Given the description of an element on the screen output the (x, y) to click on. 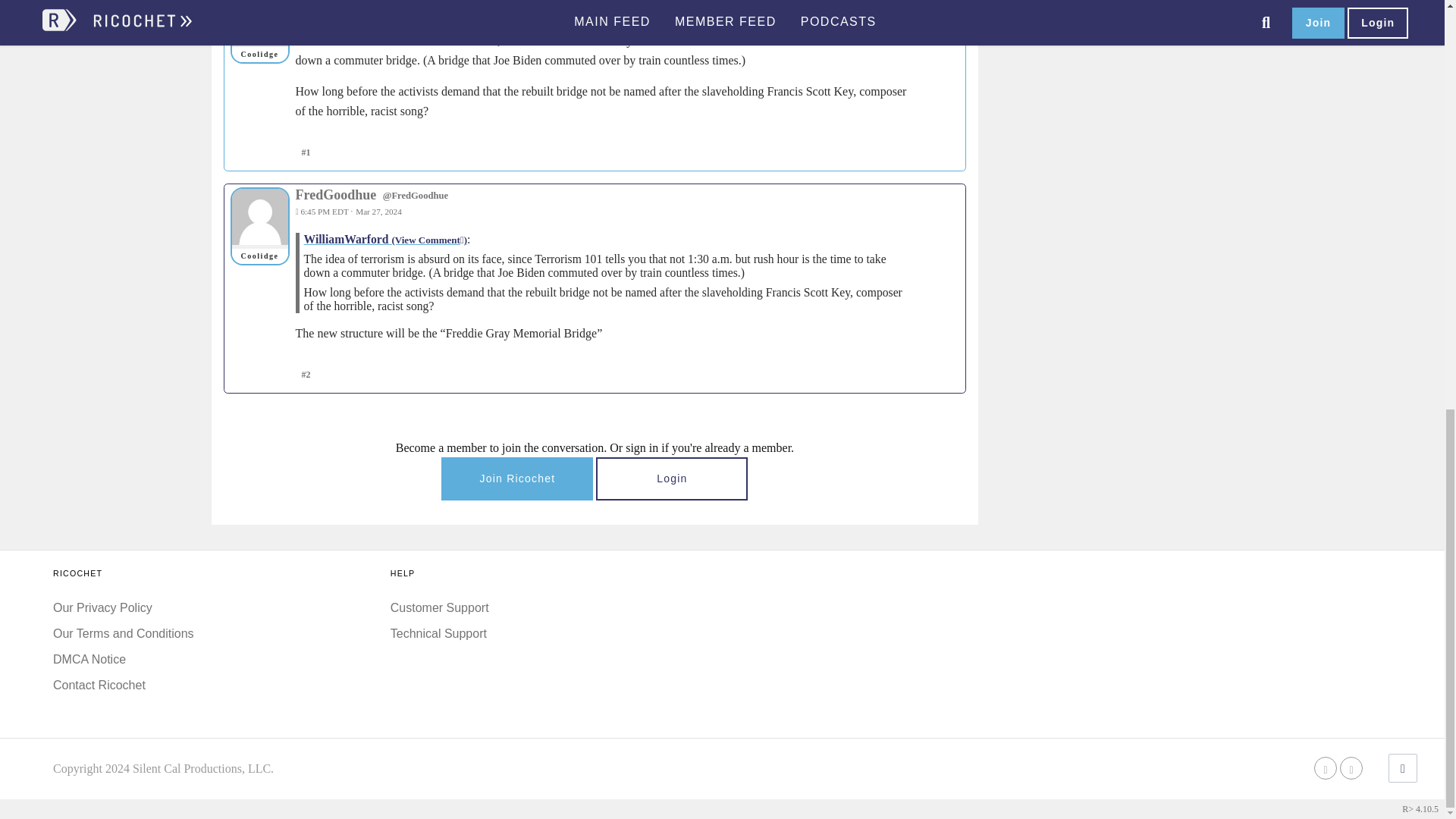
WilliamWarford (259, 21)
View comment in context. (384, 238)
facebook (1325, 768)
FredGoodhue (259, 216)
